Given the description of an element on the screen output the (x, y) to click on. 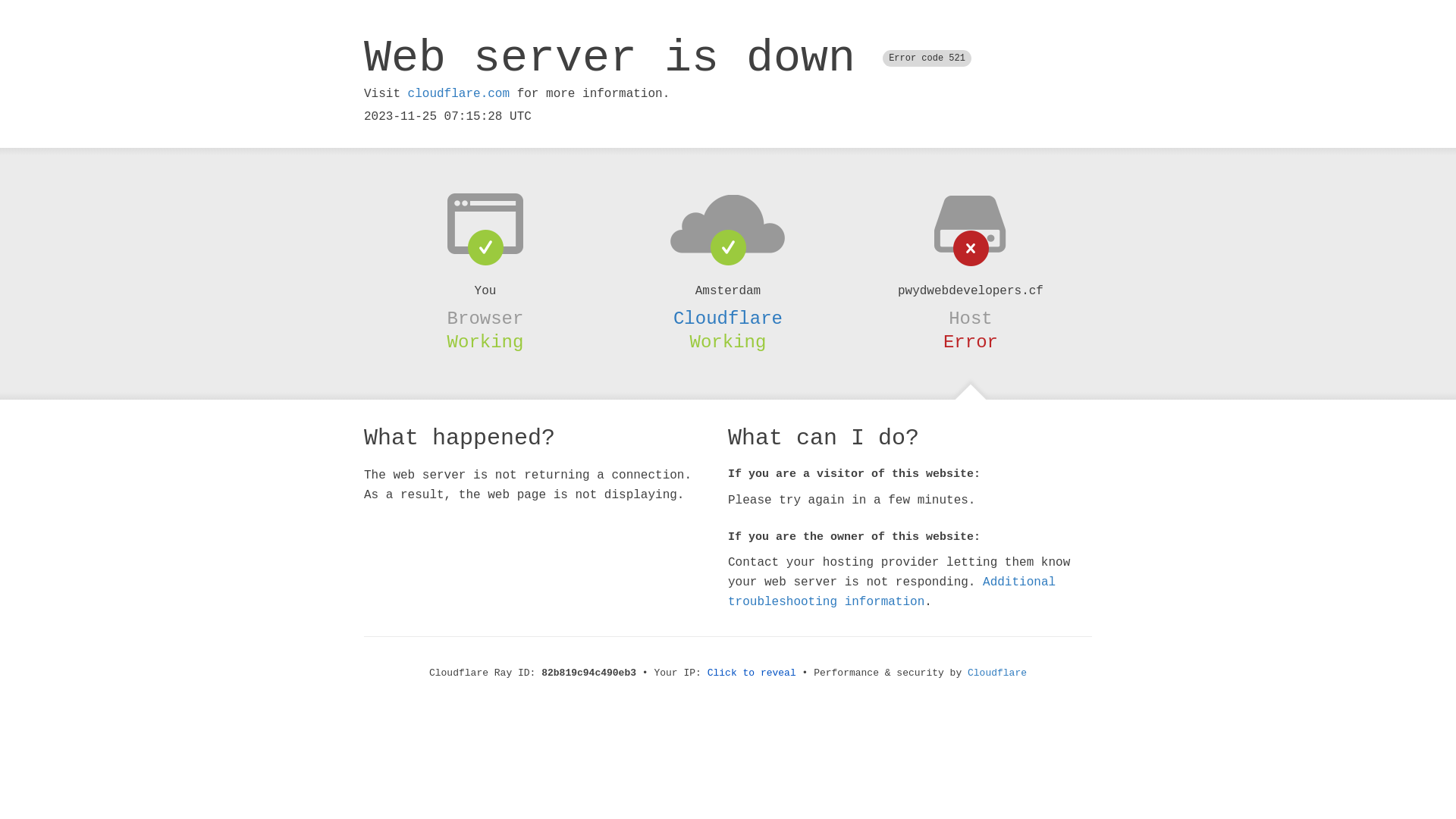
Cloudflare Element type: text (727, 318)
Additional troubleshooting information Element type: text (891, 591)
Click to reveal Element type: text (751, 672)
cloudflare.com Element type: text (458, 93)
Cloudflare Element type: text (996, 672)
